Given the description of an element on the screen output the (x, y) to click on. 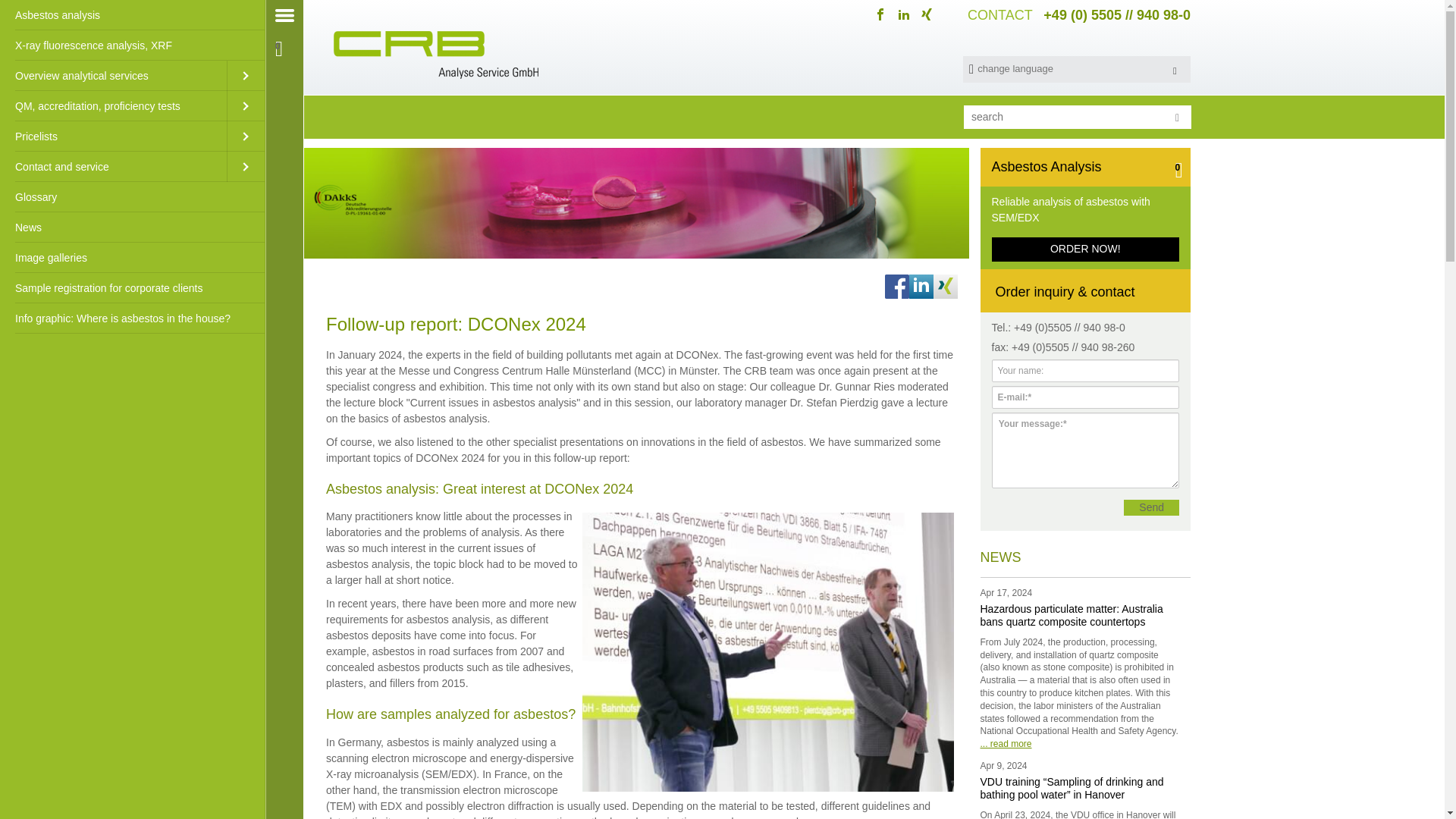
Asbestos analysis (132, 15)
Pricelists (113, 136)
QM, accreditation, proficiency tests (113, 105)
X-ray fluorescence analysis, XRF (132, 45)
Overview analytical services (113, 75)
Overview analytical services (113, 75)
QM, accreditation, proficiency tests (113, 105)
Contact and service (113, 166)
